Given the description of an element on the screen output the (x, y) to click on. 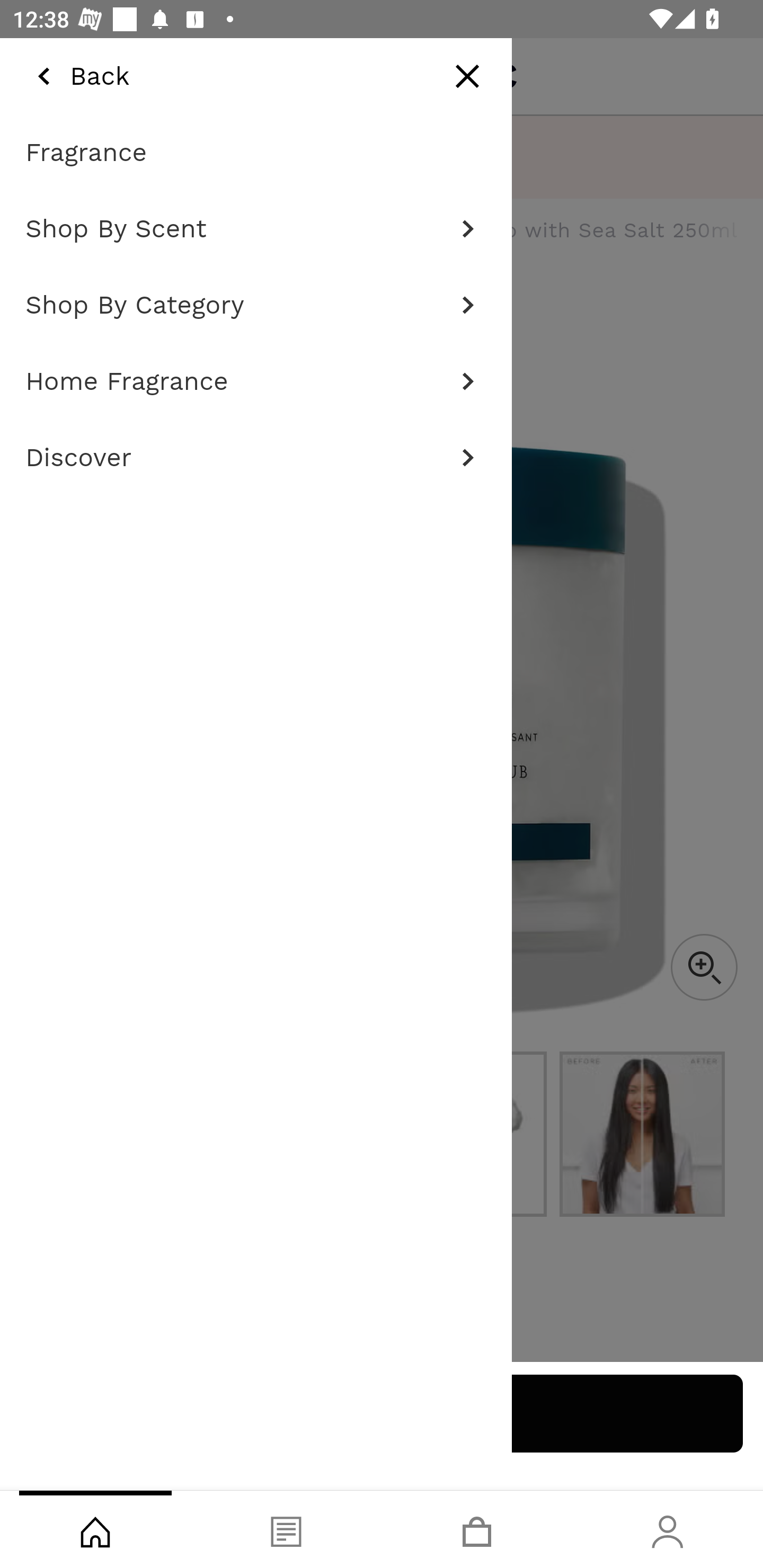
Back (77, 75)
Close Menu (467, 75)
Fragrance  (255, 152)
Shop By Scent (255, 228)
Shop By Category (255, 304)
Home Fragrance (255, 381)
Discover (255, 457)
Shop, tab, 1 of 4 (95, 1529)
Blog, tab, 2 of 4 (285, 1529)
Basket, tab, 3 of 4 (476, 1529)
Account, tab, 4 of 4 (667, 1529)
